Given the description of an element on the screen output the (x, y) to click on. 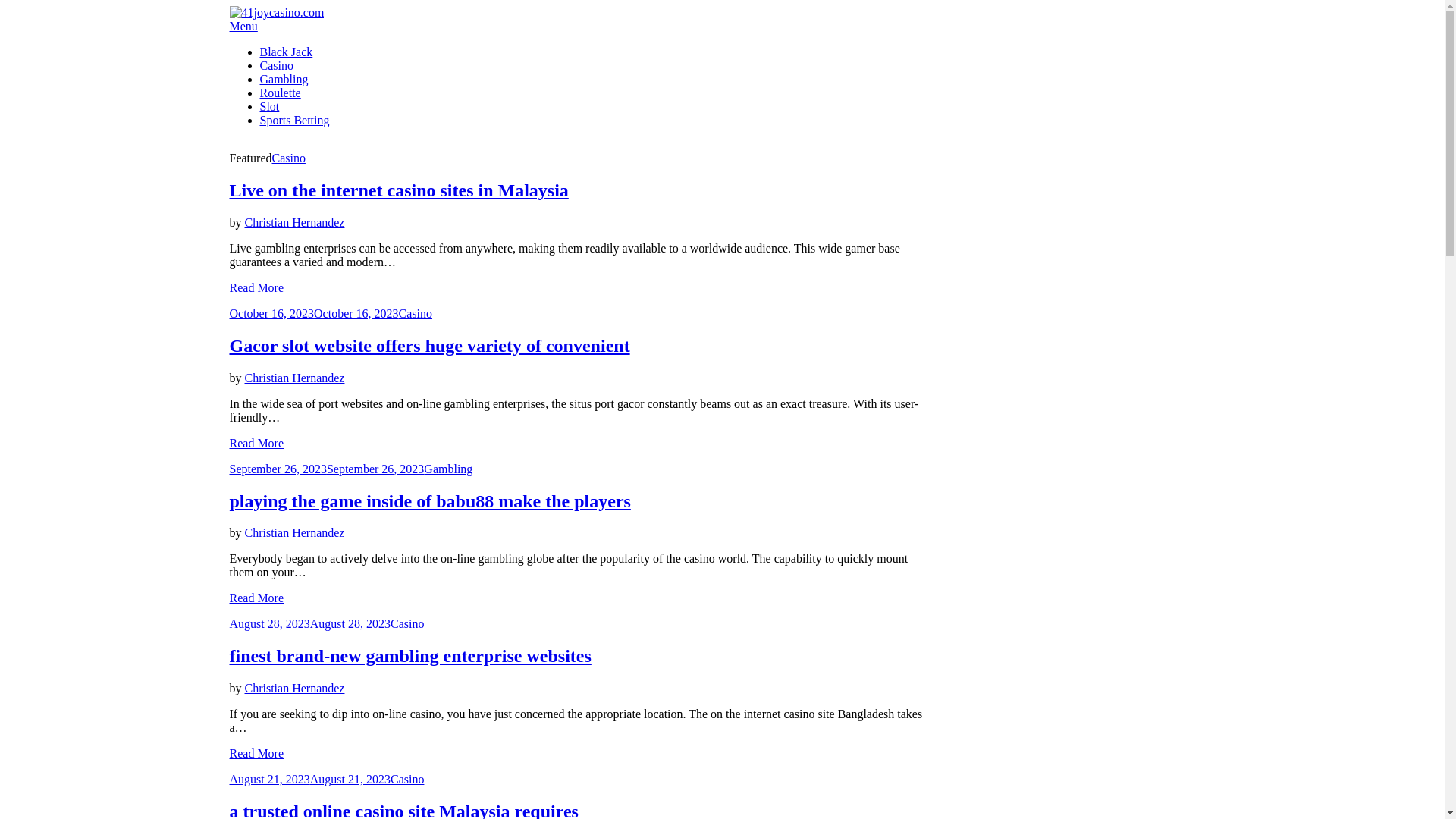
Read More Element type: text (256, 287)
Skip to content Element type: text (5, 5)
Christian Hernandez Element type: text (294, 222)
September 26, 2023September 26, 2023 Element type: text (326, 468)
Christian Hernandez Element type: text (294, 532)
Read More Element type: text (256, 597)
Casino Element type: text (287, 157)
Black Jack Element type: text (285, 51)
finest brand-new gambling enterprise websites Element type: text (409, 655)
Casino Element type: text (406, 778)
Casino Element type: text (415, 313)
August 21, 2023August 21, 2023 Element type: text (309, 778)
Casino Element type: text (406, 623)
Gacor slot website offers huge variety of convenient Element type: text (429, 345)
Roulette Element type: text (279, 92)
Christian Hernandez Element type: text (294, 377)
Casino Element type: text (275, 65)
Slot Element type: text (269, 106)
Read More Element type: text (256, 442)
Sports Betting Element type: text (294, 119)
playing the game inside of babu88 make the players Element type: text (429, 501)
October 16, 2023October 16, 2023 Element type: text (313, 313)
Menu Element type: text (243, 25)
Live on the internet casino sites in Malaysia Element type: text (398, 190)
Read More Element type: text (256, 752)
August 28, 2023August 28, 2023 Element type: text (309, 623)
Gambling Element type: text (447, 468)
Gambling Element type: text (283, 78)
Christian Hernandez Element type: text (294, 687)
